Given the description of an element on the screen output the (x, y) to click on. 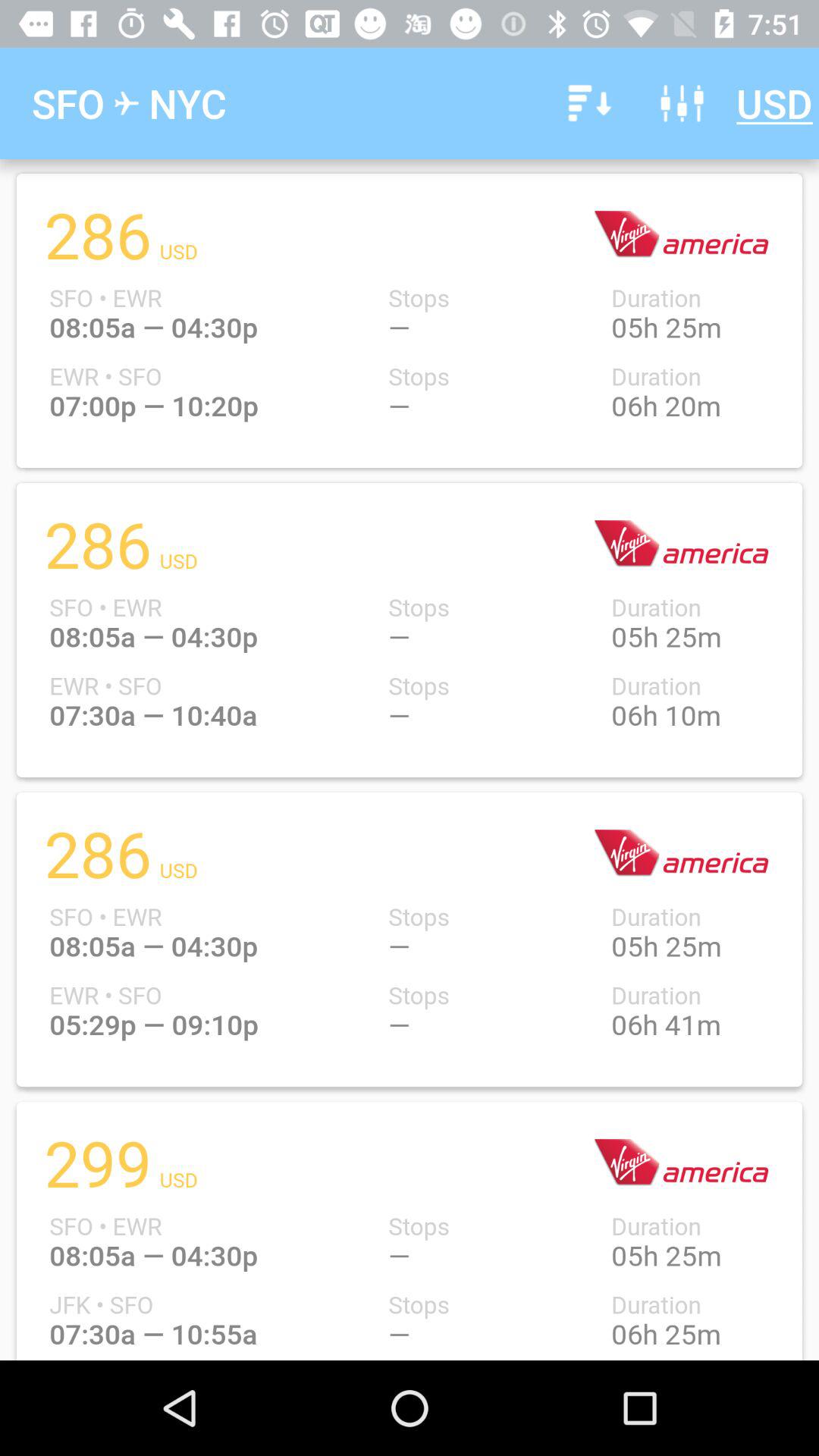
select the icon next to the usd (682, 103)
